Given the description of an element on the screen output the (x, y) to click on. 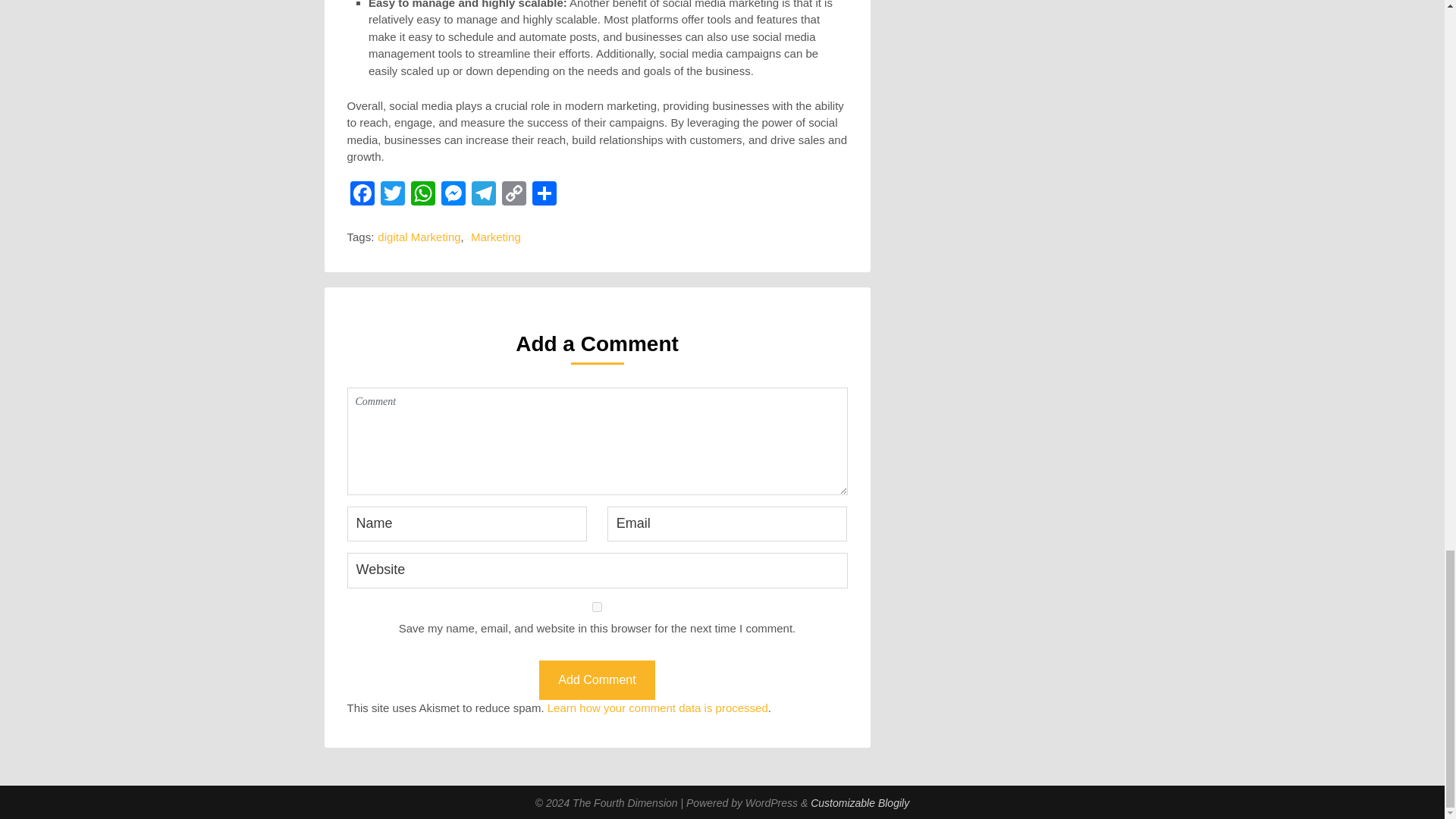
Add Comment (595, 680)
Messenger (453, 194)
yes (597, 606)
Marketing (495, 236)
Facebook (362, 194)
Twitter (392, 194)
Facebook (362, 194)
WhatsApp (422, 194)
Telegram (483, 194)
Learn how your comment data is processed (657, 707)
